Given the description of an element on the screen output the (x, y) to click on. 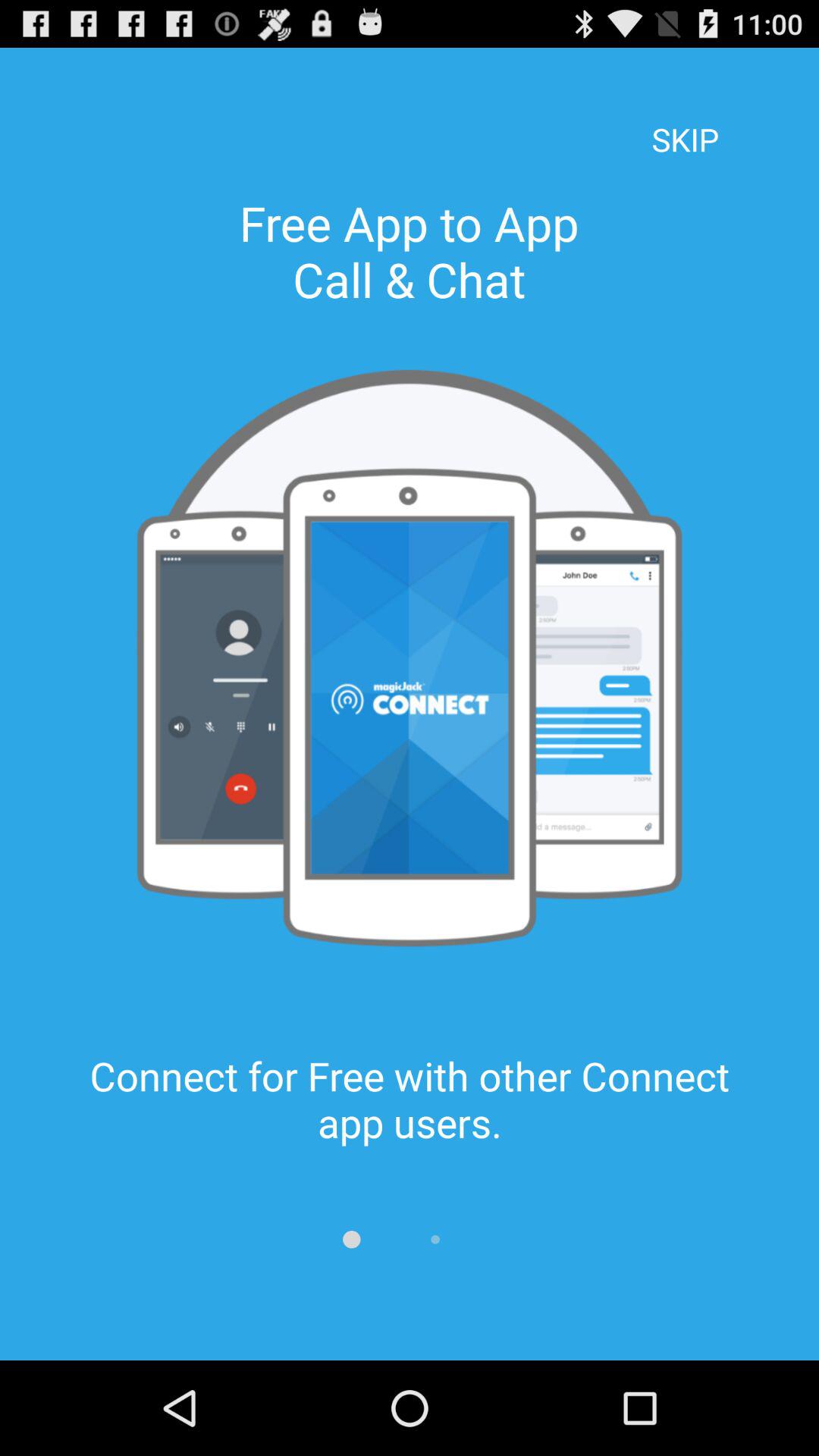
go next (435, 1239)
